Given the description of an element on the screen output the (x, y) to click on. 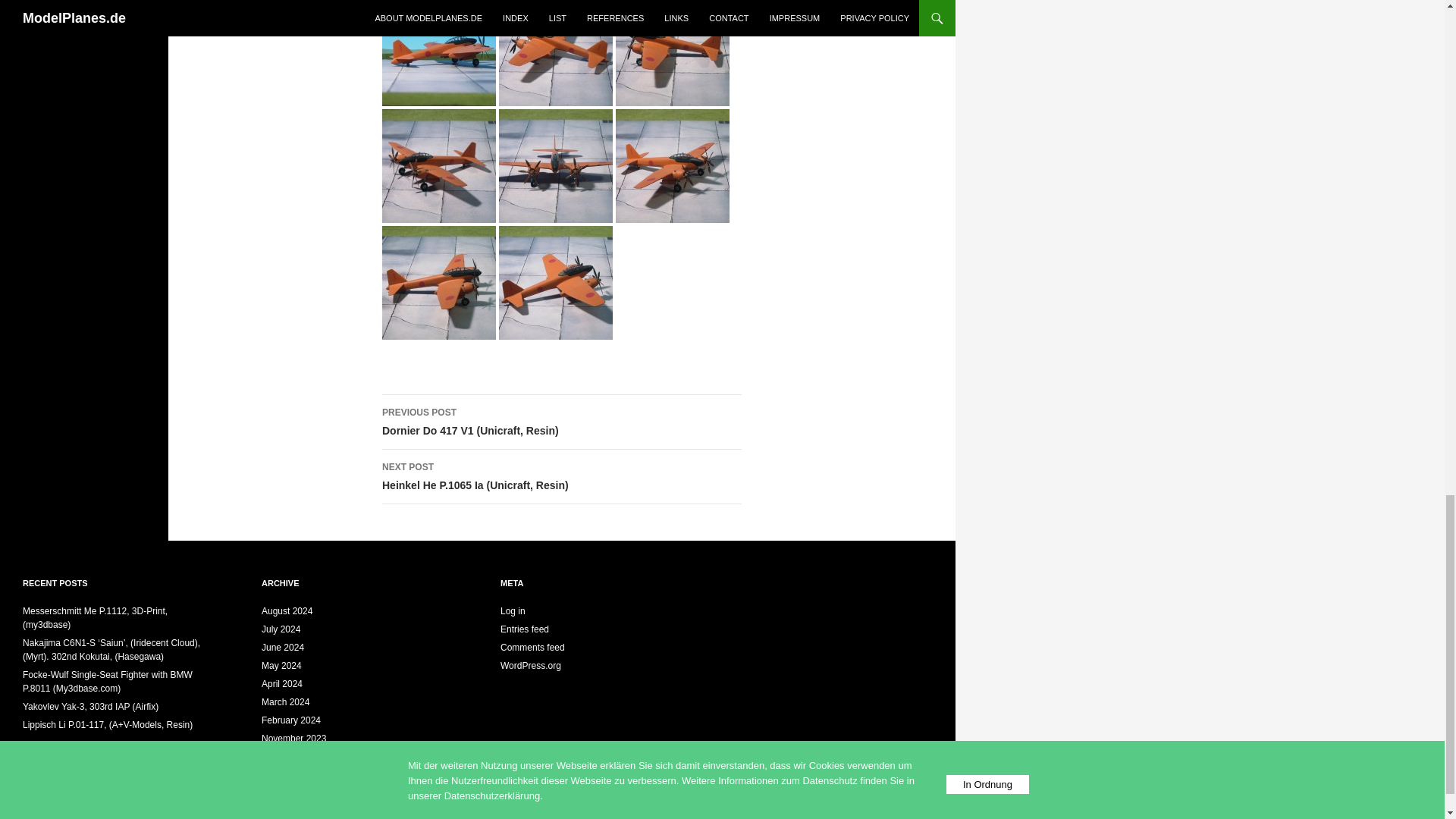
Rikugun Ki-93-Ia (555, 164)
Rikugun Ki-93-Ia (555, 47)
Rikugun Ki-93-Ia (555, 281)
Rikugun Ki-93-Ia (672, 47)
Rikugun Ki-93-Ia (438, 47)
Rikugun Ki-93-Ia (438, 164)
Rikugun Ki-93-Ia (672, 164)
Rikugun Ki-93-Ia (438, 281)
